Given the description of an element on the screen output the (x, y) to click on. 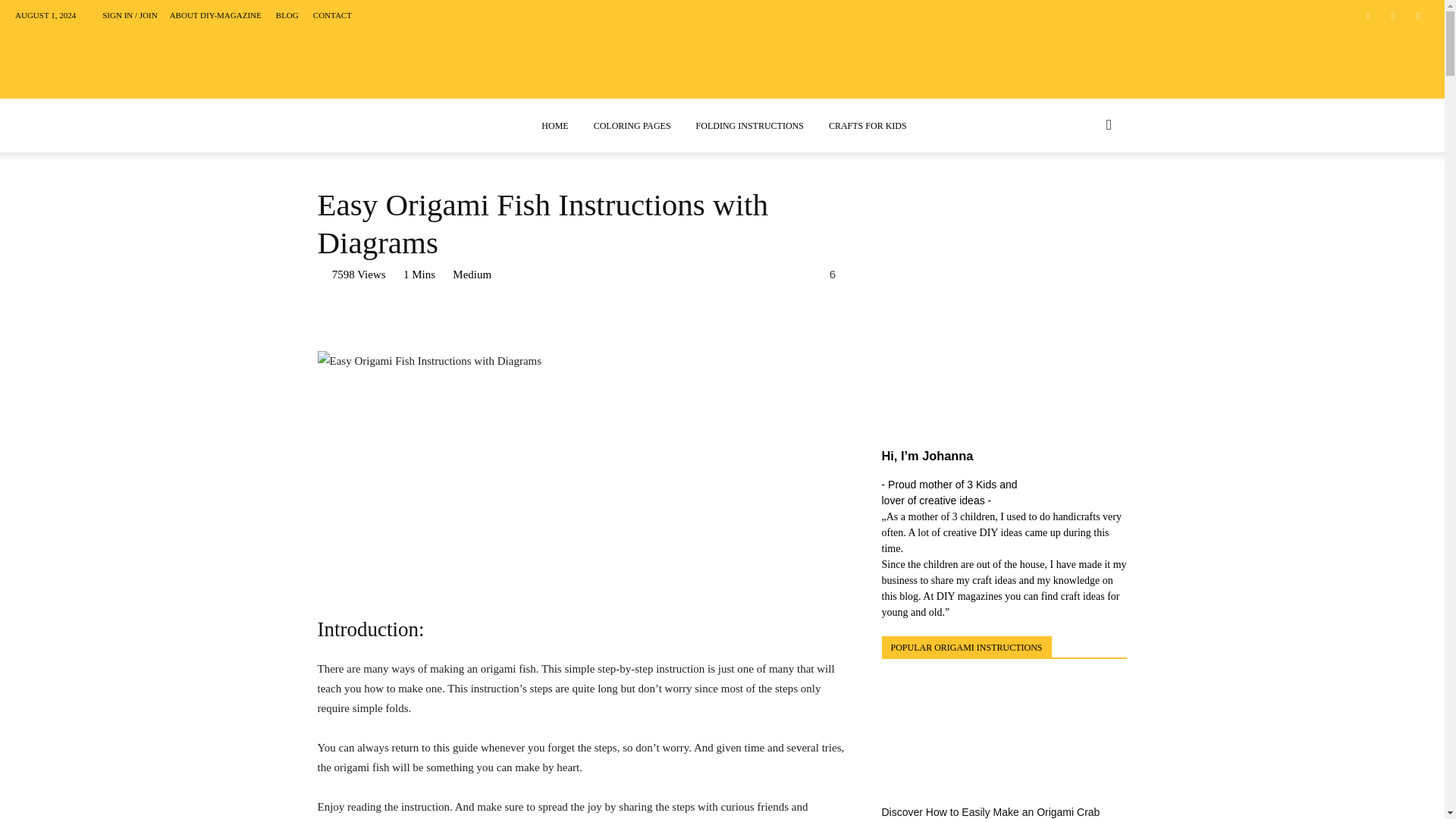
Open Cookie Preferences (32, 799)
CONTACT (332, 14)
BLOG (287, 14)
ABOUT DIY-MAGAZINE (216, 14)
